Given the description of an element on the screen output the (x, y) to click on. 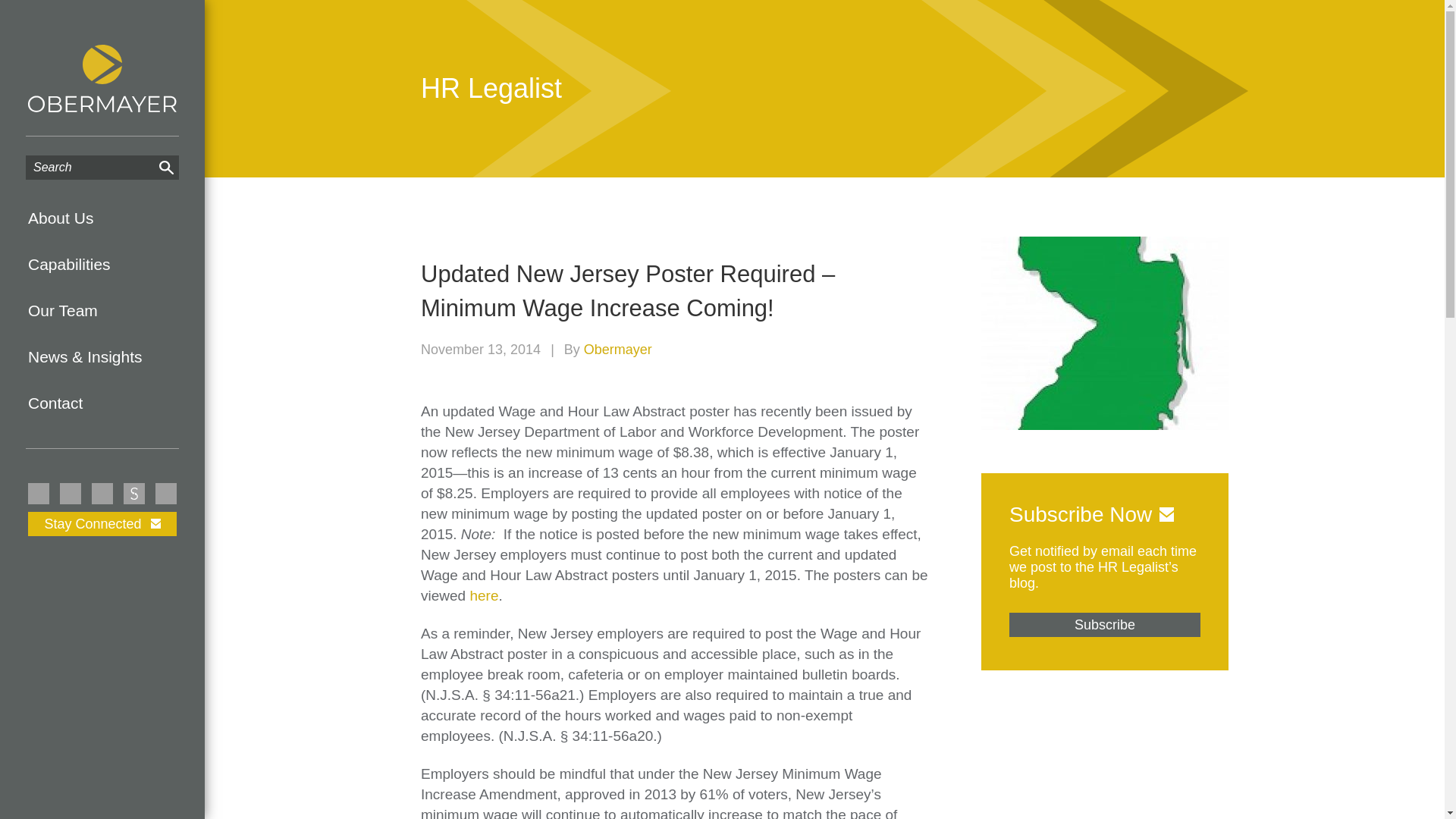
Posts by Obermayer (617, 349)
About Us (102, 217)
Capabilities (102, 264)
